Given the description of an element on the screen output the (x, y) to click on. 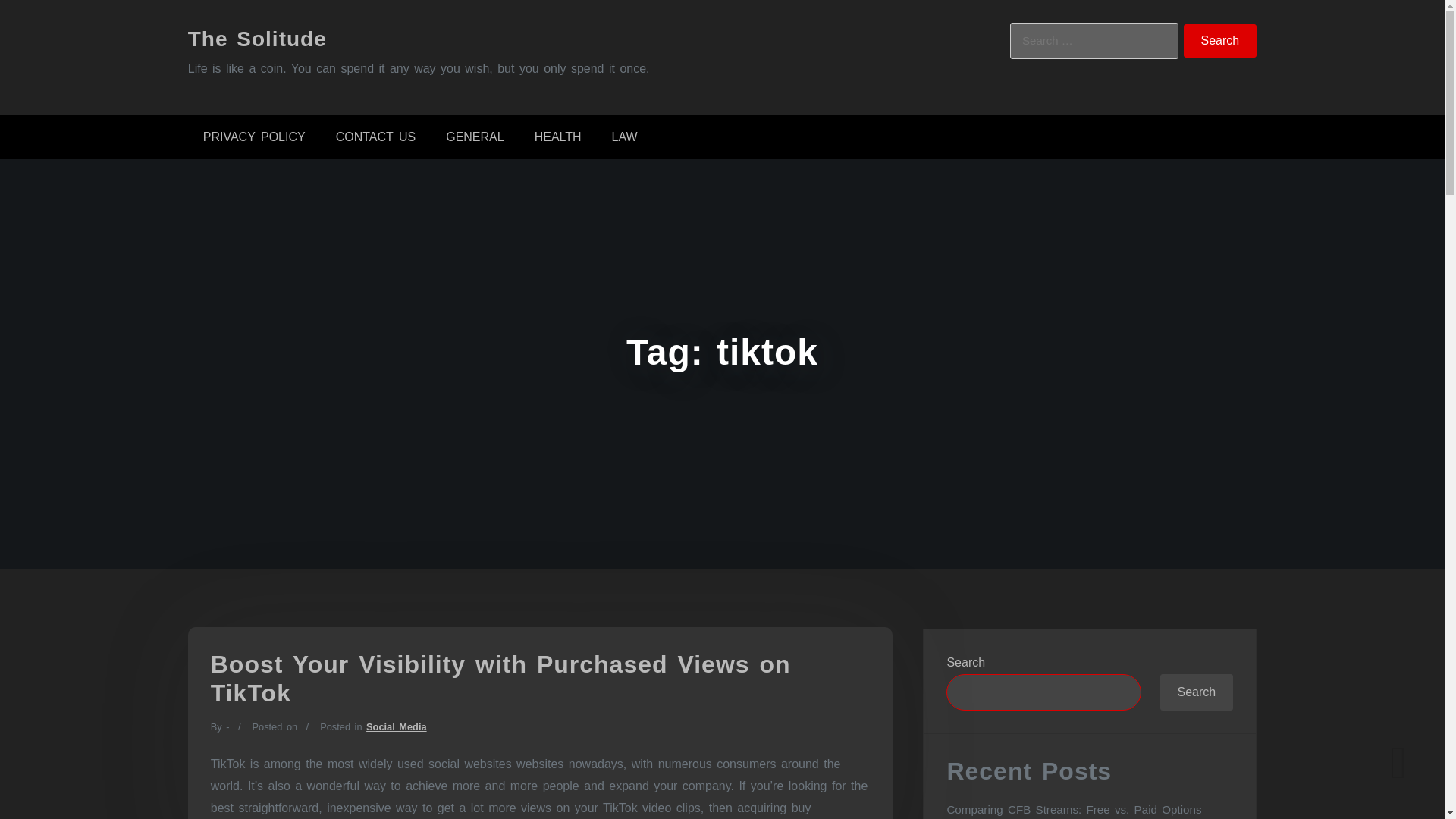
Search (1220, 40)
LAW (624, 136)
PRIVACY POLICY (253, 136)
Search (1220, 40)
GENERAL (474, 136)
HEALTH (557, 136)
The Solitude (256, 38)
Search (1220, 40)
Boost Your Visibility with Purchased Views on TikTok (500, 678)
CONTACT US (375, 136)
Social Media (396, 726)
